Given the description of an element on the screen output the (x, y) to click on. 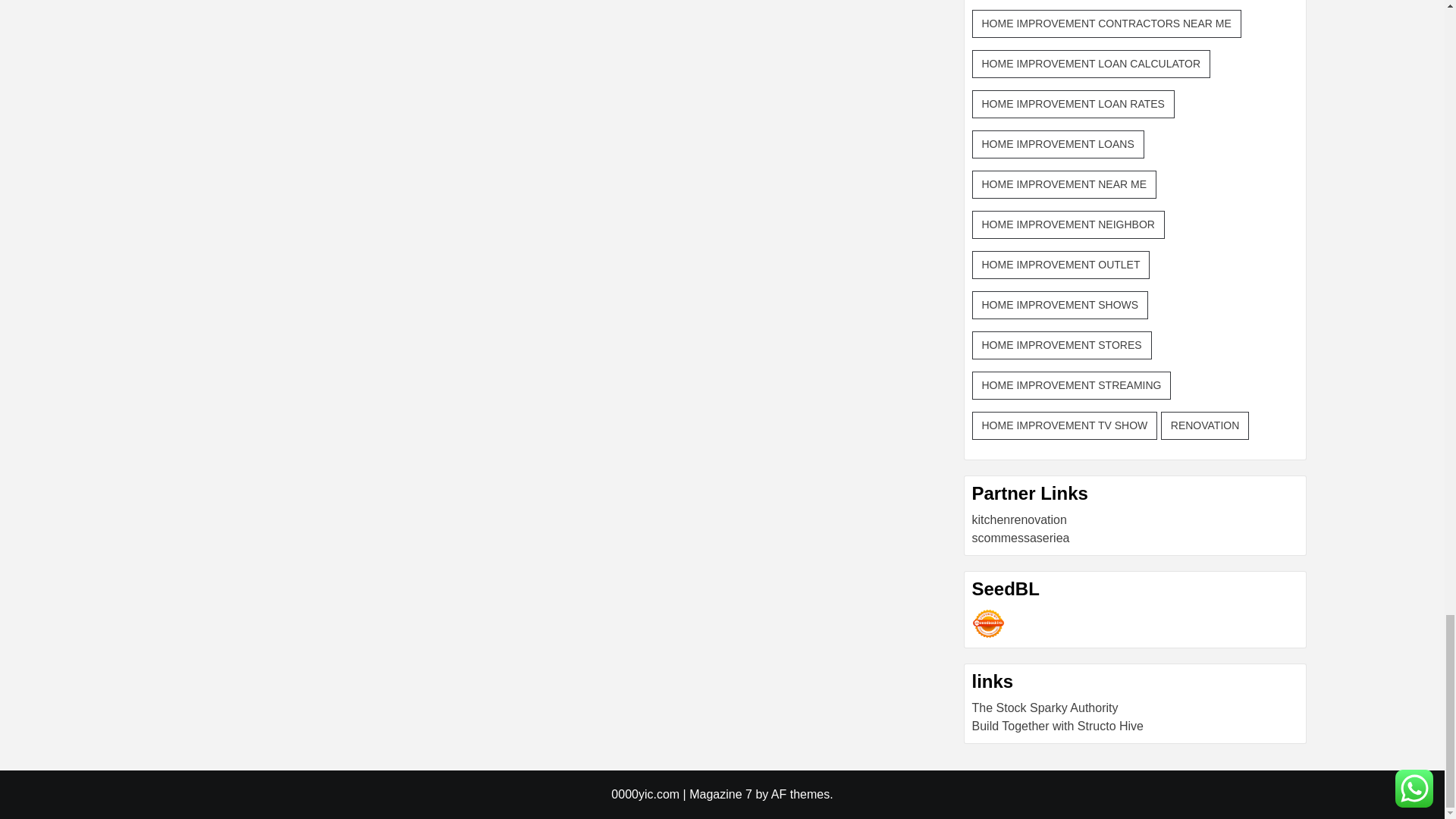
Seedbacklink (988, 623)
